Given the description of an element on the screen output the (x, y) to click on. 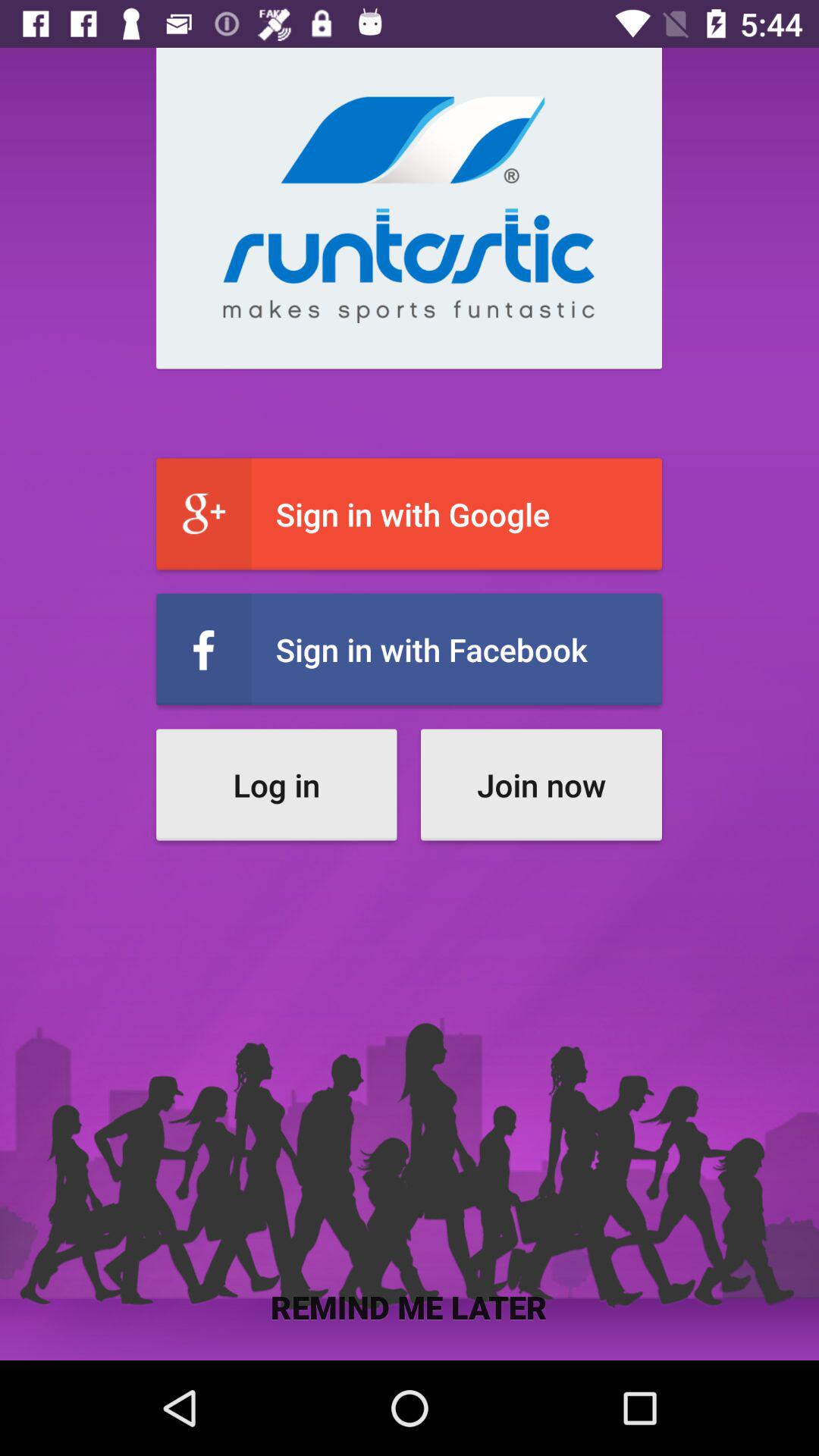
swipe until remind me later button (409, 1306)
